Given the description of an element on the screen output the (x, y) to click on. 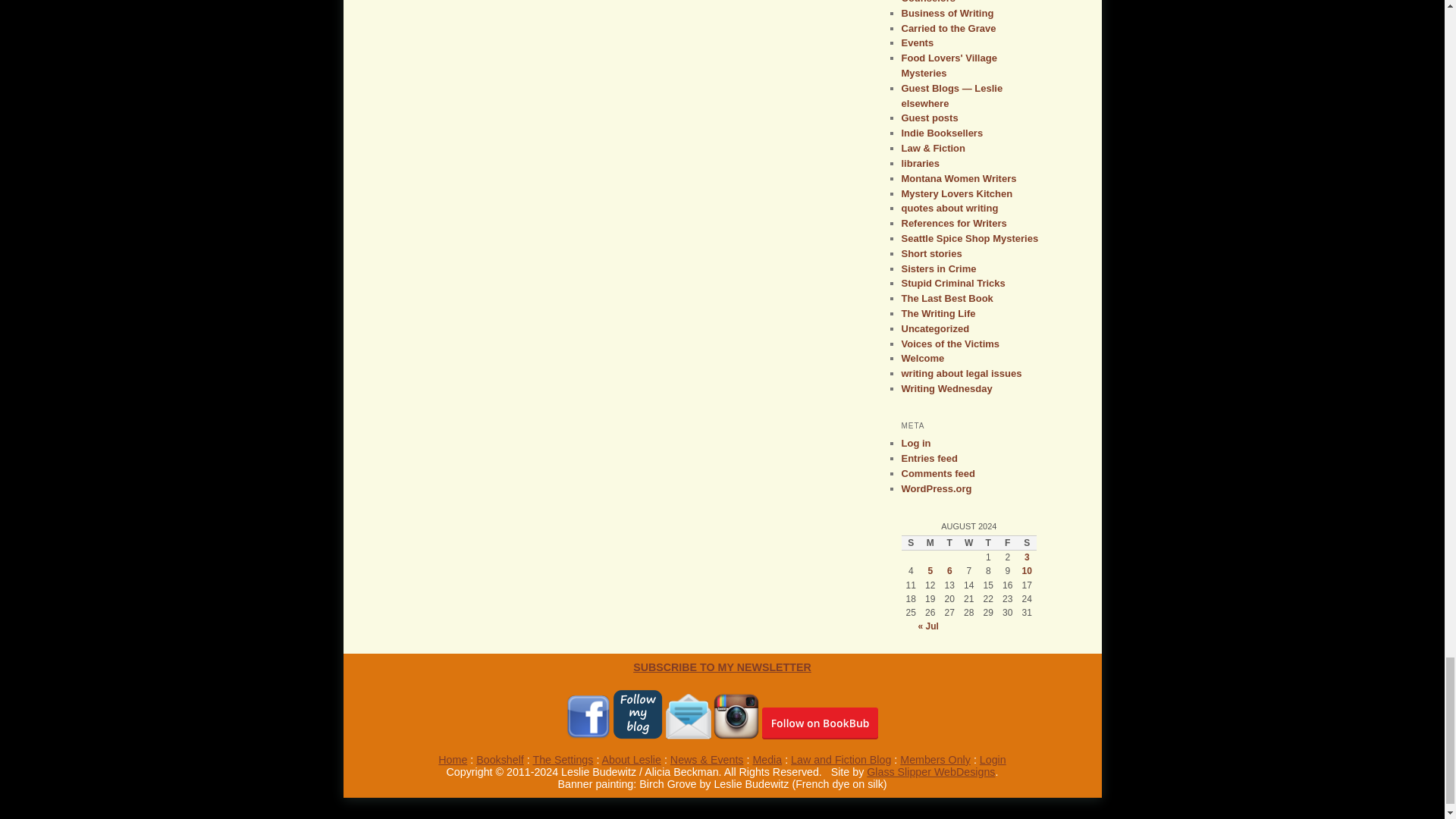
Wednesday (968, 542)
Friday (1007, 542)
Monday (930, 542)
Tuesday (949, 542)
Thursday (987, 542)
Sunday (910, 542)
Saturday (1026, 542)
